Given the description of an element on the screen output the (x, y) to click on. 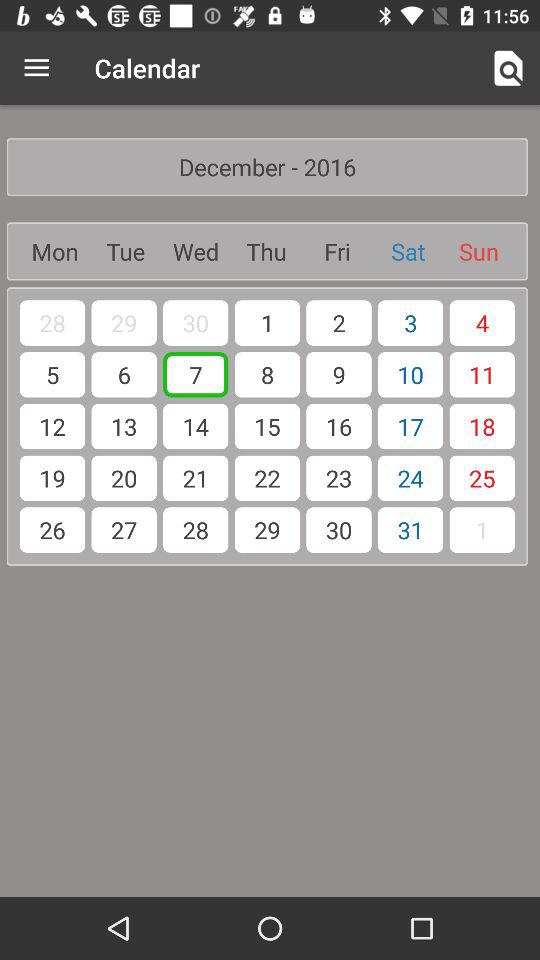
select icon above the december - 2016 icon (36, 68)
